Given the description of an element on the screen output the (x, y) to click on. 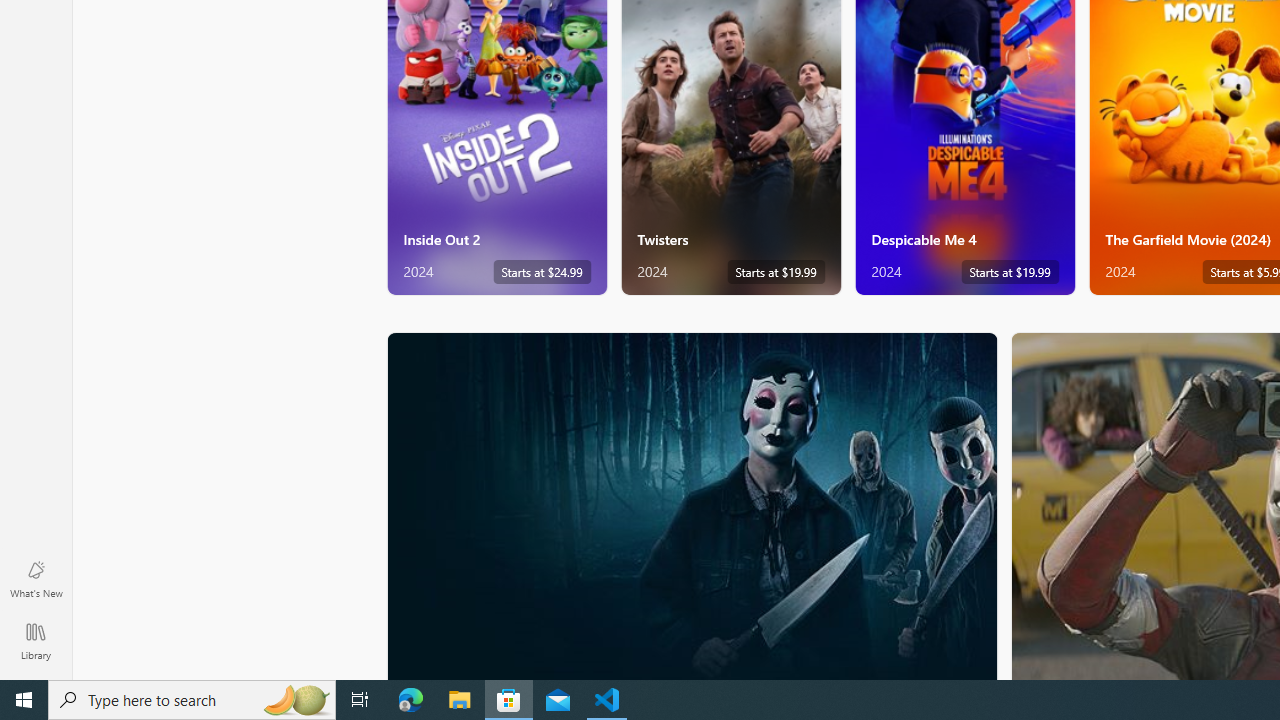
What's New (35, 578)
Library (35, 640)
Horror (692, 505)
AutomationID: PosterImage (690, 505)
